Given the description of an element on the screen output the (x, y) to click on. 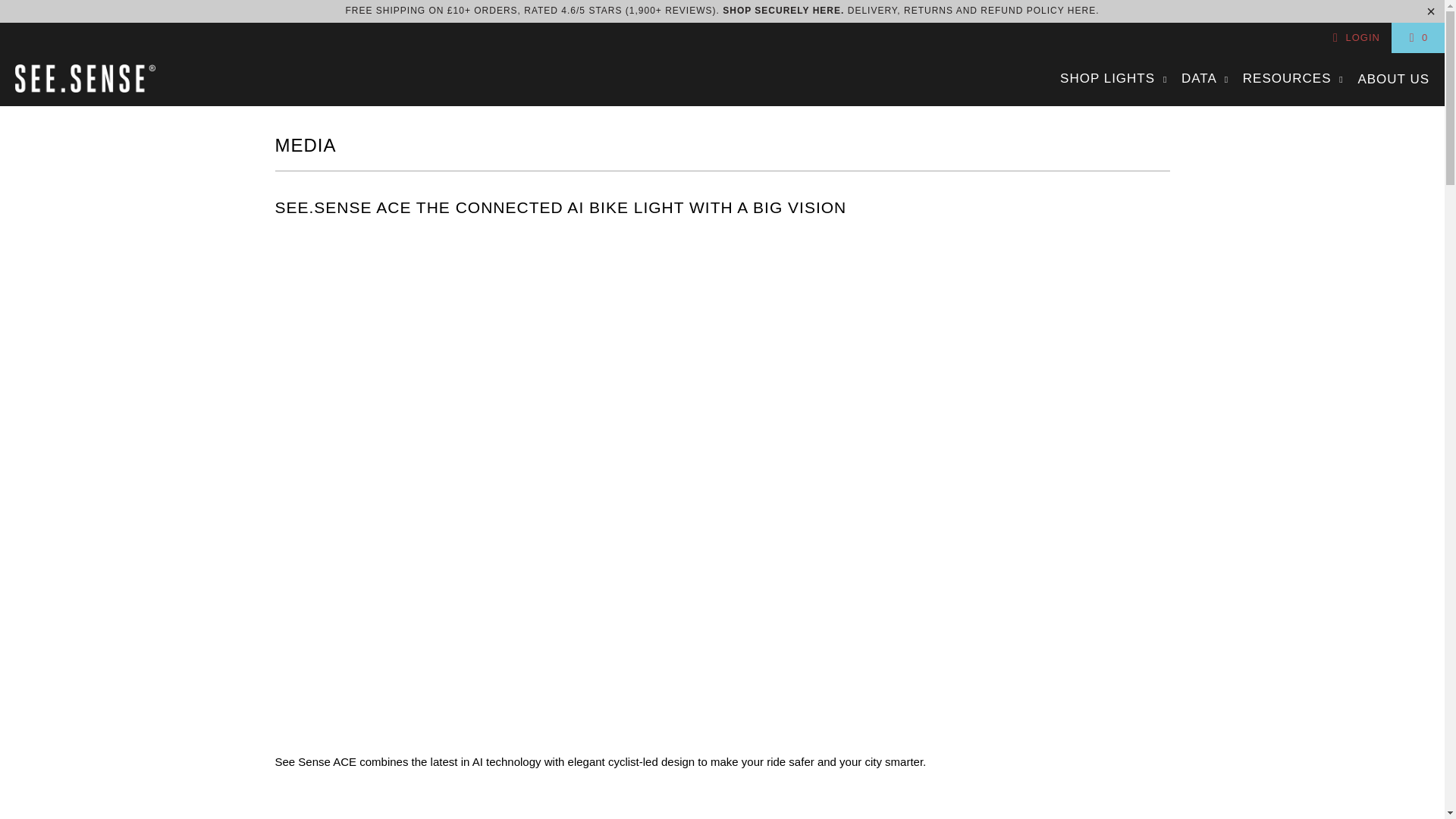
See.Sense (84, 79)
Shop (825, 9)
My Account  (1353, 37)
